Given the description of an element on the screen output the (x, y) to click on. 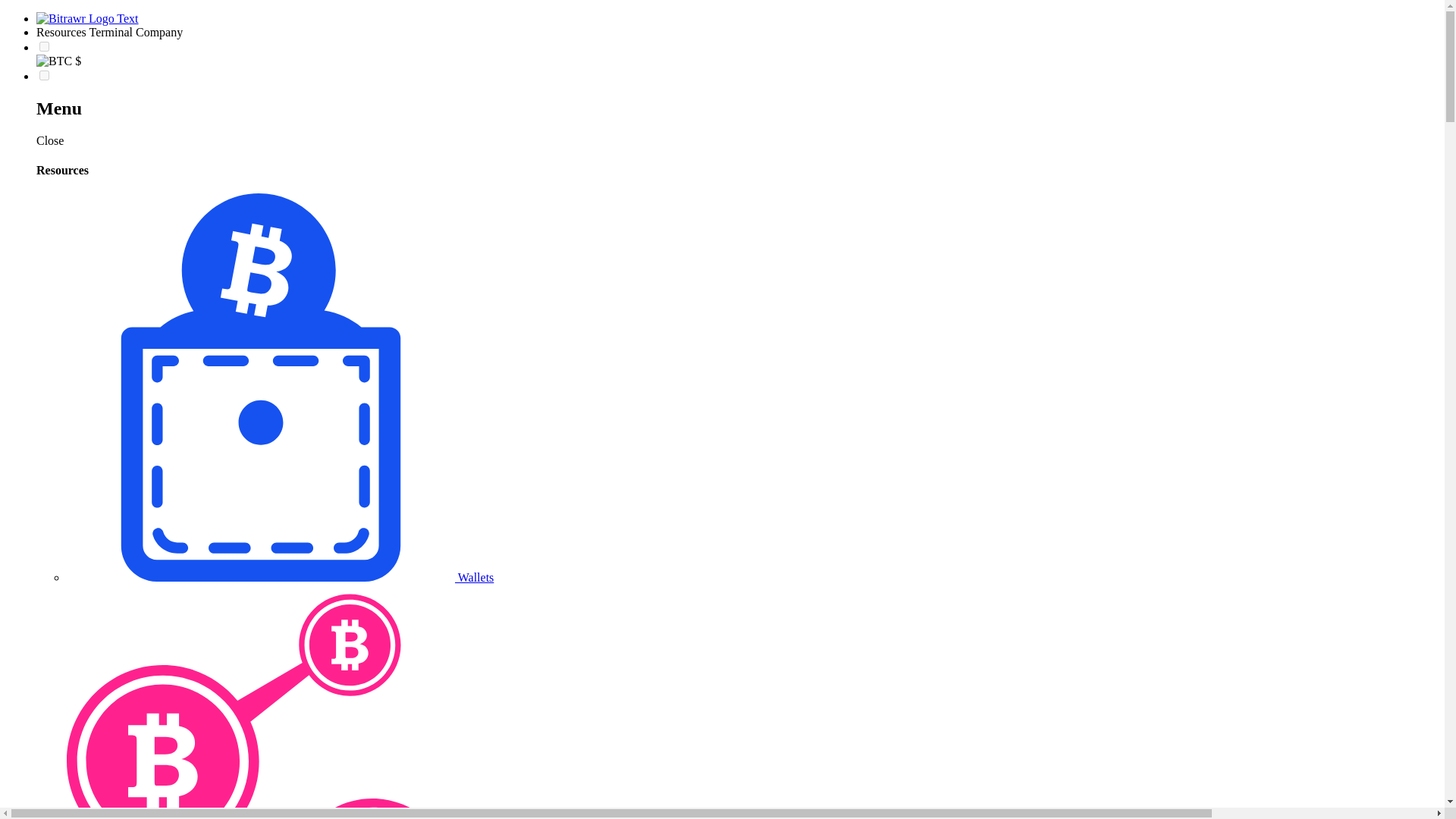
on (44, 75)
Resources (62, 31)
Company (159, 31)
on (44, 46)
Menu (737, 108)
Wallets (279, 576)
Close (50, 140)
Terminal (111, 31)
